Given the description of an element on the screen output the (x, y) to click on. 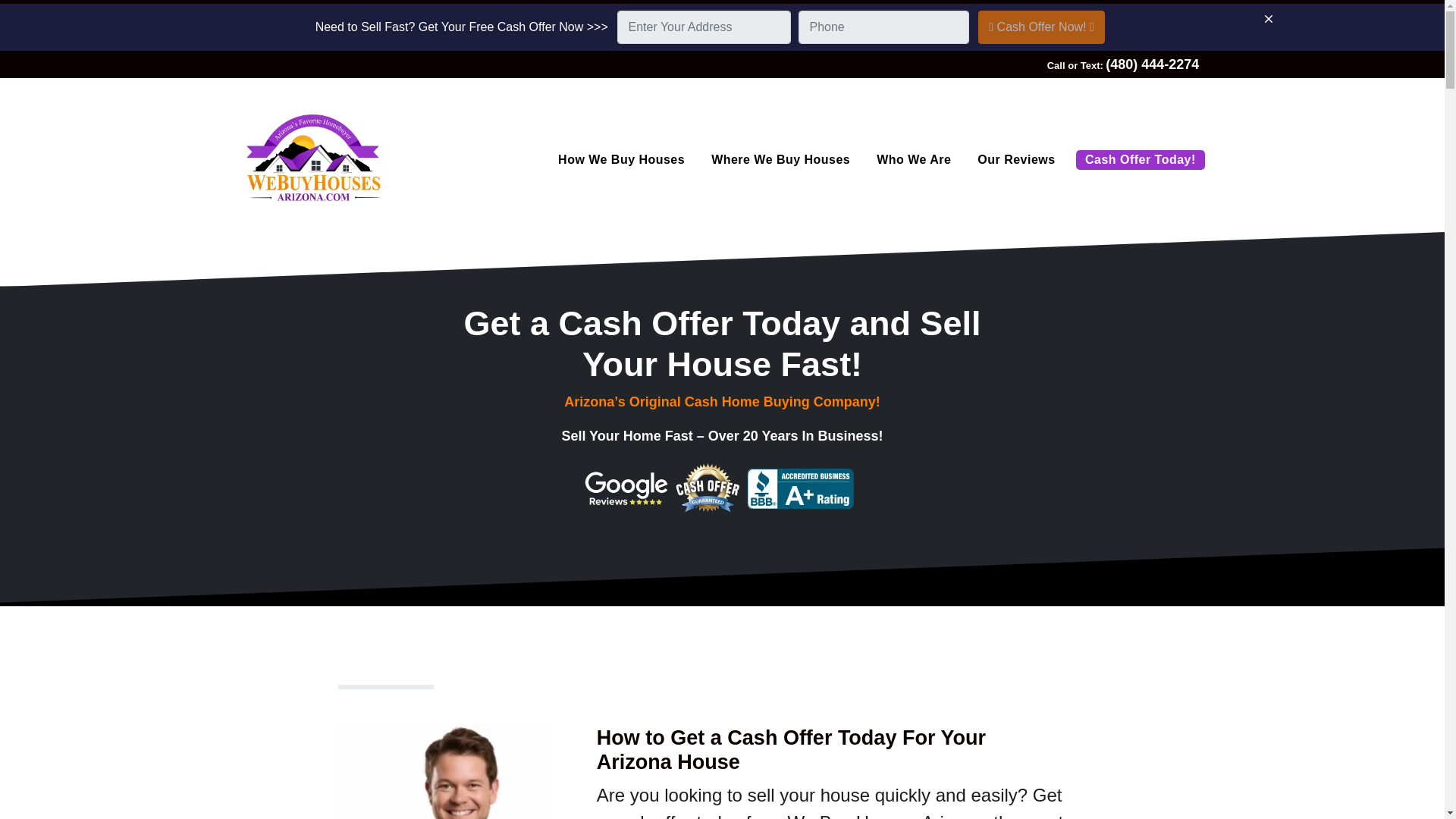
How We Buy Houses (621, 158)
Our Reviews (1016, 158)
Cash Offer Today! (1140, 159)
Where We Buy Houses (780, 158)
Who We Are (913, 158)
